Given the description of an element on the screen output the (x, y) to click on. 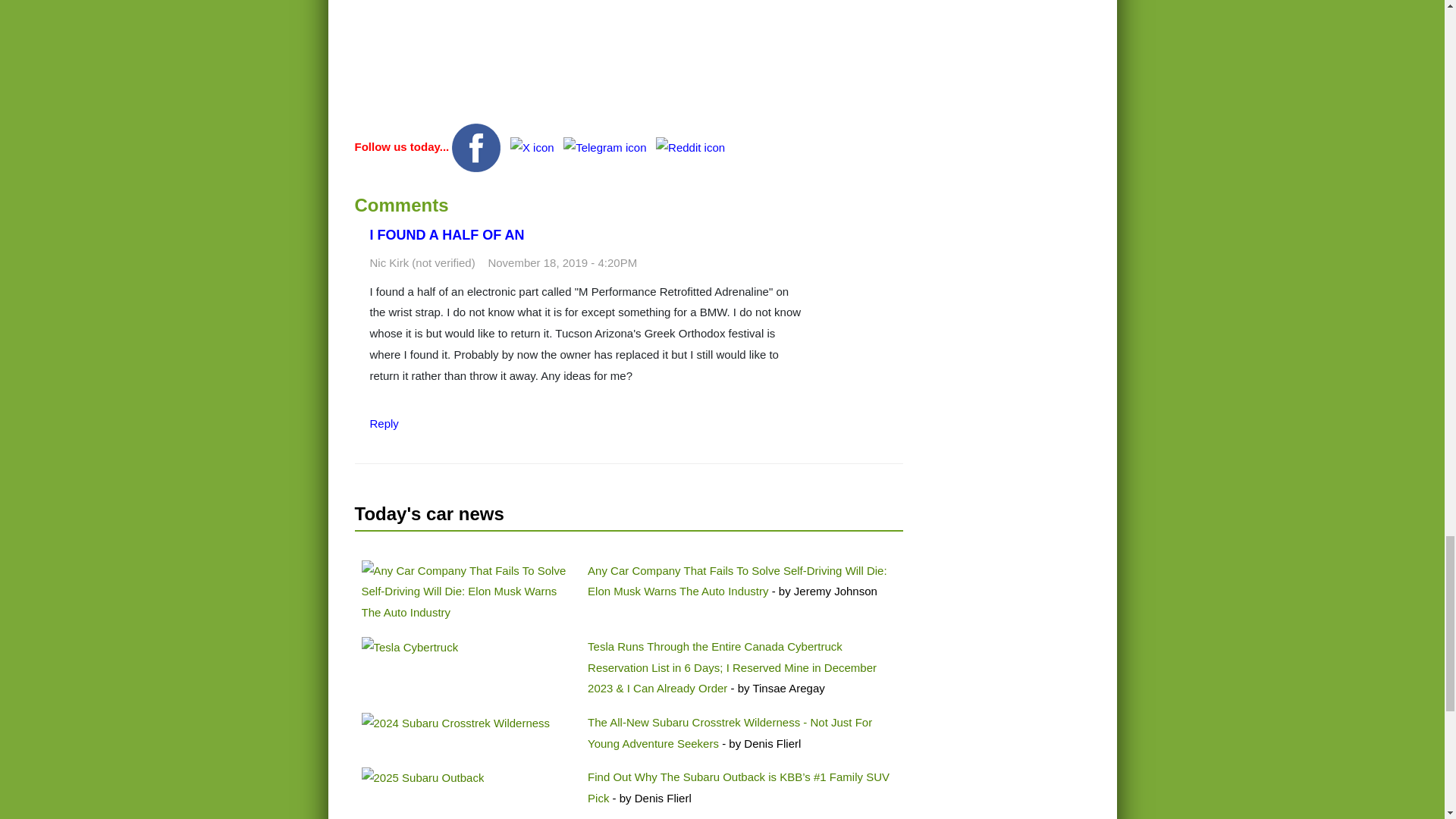
2025 Subaru Outback Wilderness in the dirt (422, 777)
Reply (383, 422)
Join us on Telegram! (606, 146)
2024 Subaru Crosstrek Wilderness at REI event (455, 722)
I FOUND A HALF OF AN (446, 234)
Join us on Reddit! (690, 146)
